Given the description of an element on the screen output the (x, y) to click on. 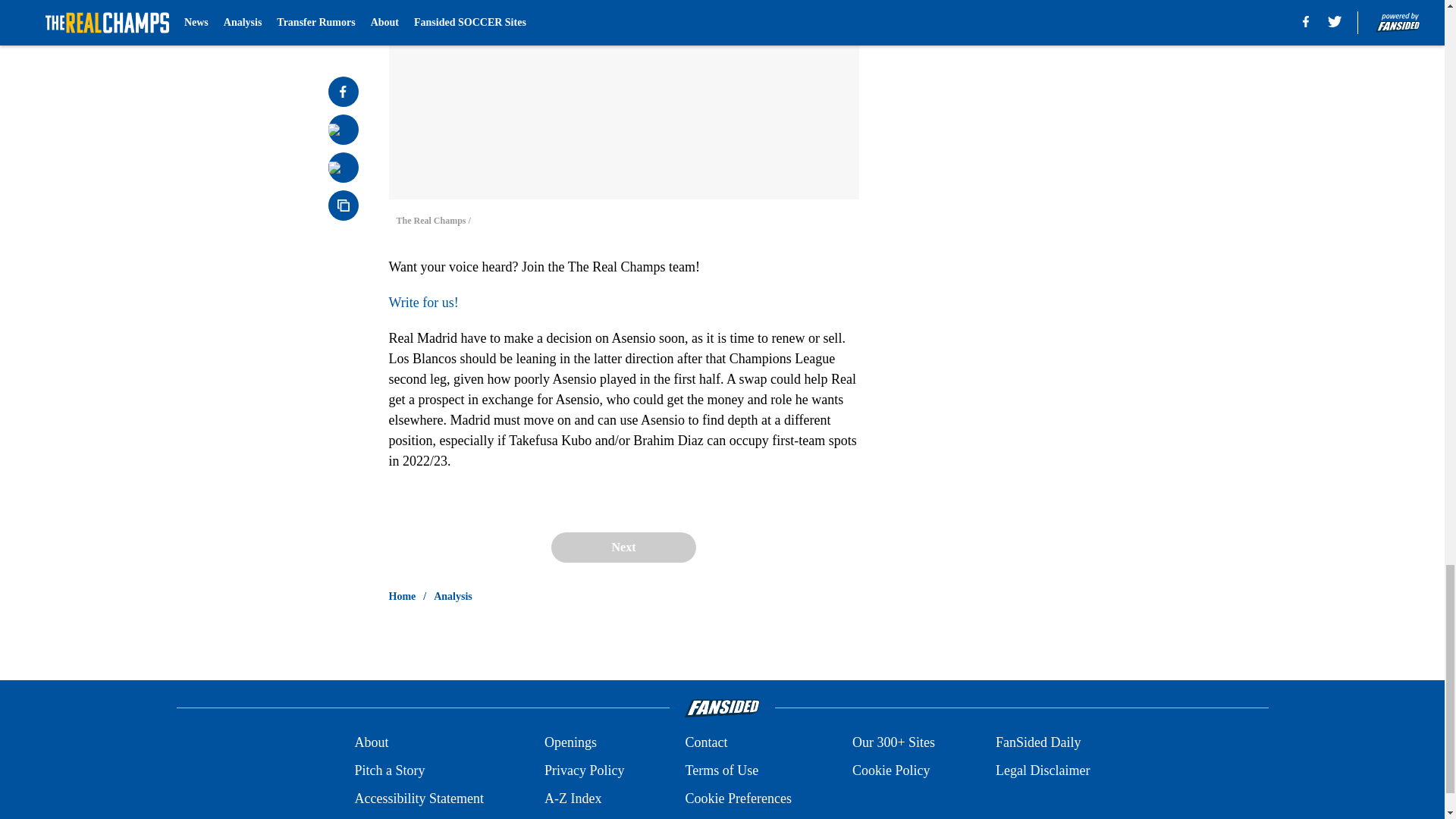
Pitch a Story (389, 770)
Cookie Policy (890, 770)
Cookie Preferences (737, 798)
Openings (570, 742)
FanSided Daily (1038, 742)
Write for us! (423, 302)
Contact (705, 742)
A-Z Index (572, 798)
Accessibility Statement (418, 798)
Home (401, 596)
